Given the description of an element on the screen output the (x, y) to click on. 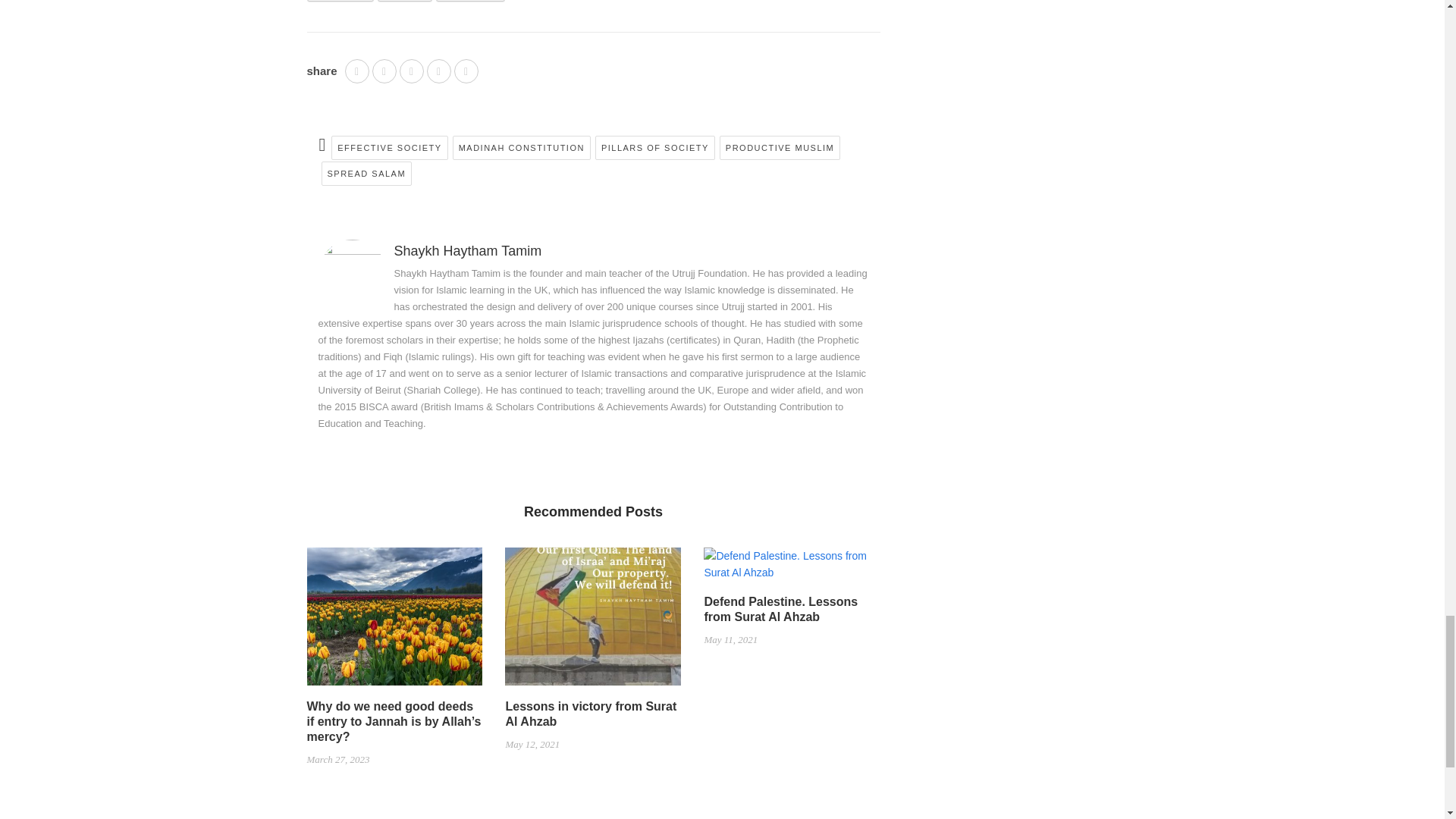
Facebook (339, 0)
Click to share on Twitter (403, 0)
Posts by Shaykh Haytham Tamim (467, 250)
Twitter (403, 0)
Click to share on Facebook (339, 0)
WhatsApp (470, 0)
Lessons in victory from Surat Al Ahzab (593, 622)
Defend Palestine. Lessons from Surat Al Ahzab (791, 570)
Click to share on WhatsApp (470, 0)
